Given the description of an element on the screen output the (x, y) to click on. 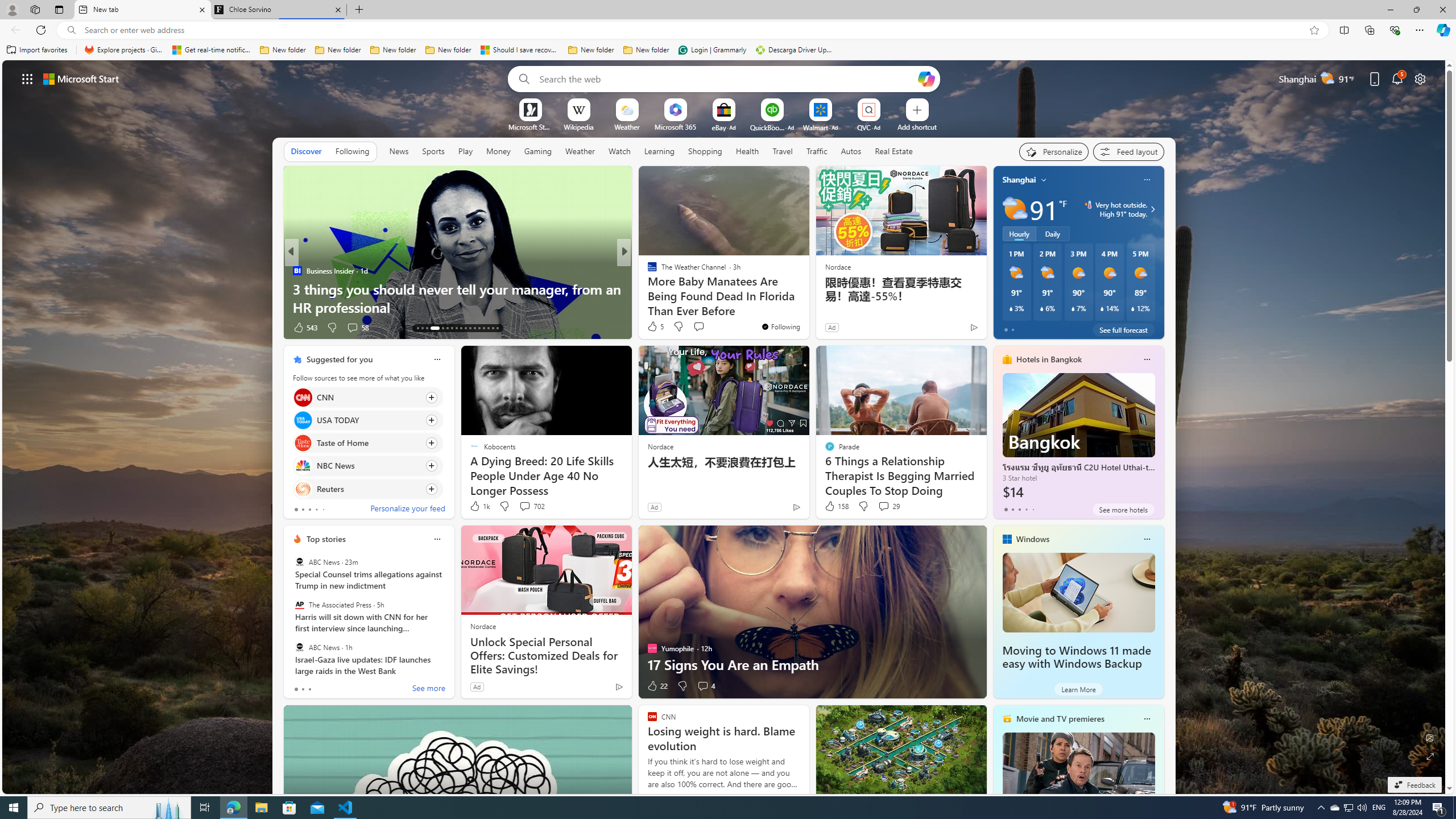
View comments 1 Comment (698, 327)
17 Like (652, 327)
Indy 100 (647, 270)
Autos (850, 151)
Top stories (325, 538)
Climate Crisis 247 (647, 270)
View comments 7 Comment (702, 327)
View comments 5 Comment (705, 327)
16 Like (652, 327)
View comments 42 Comment (6, 327)
AutomationID: tab-24 (474, 328)
